Given the description of an element on the screen output the (x, y) to click on. 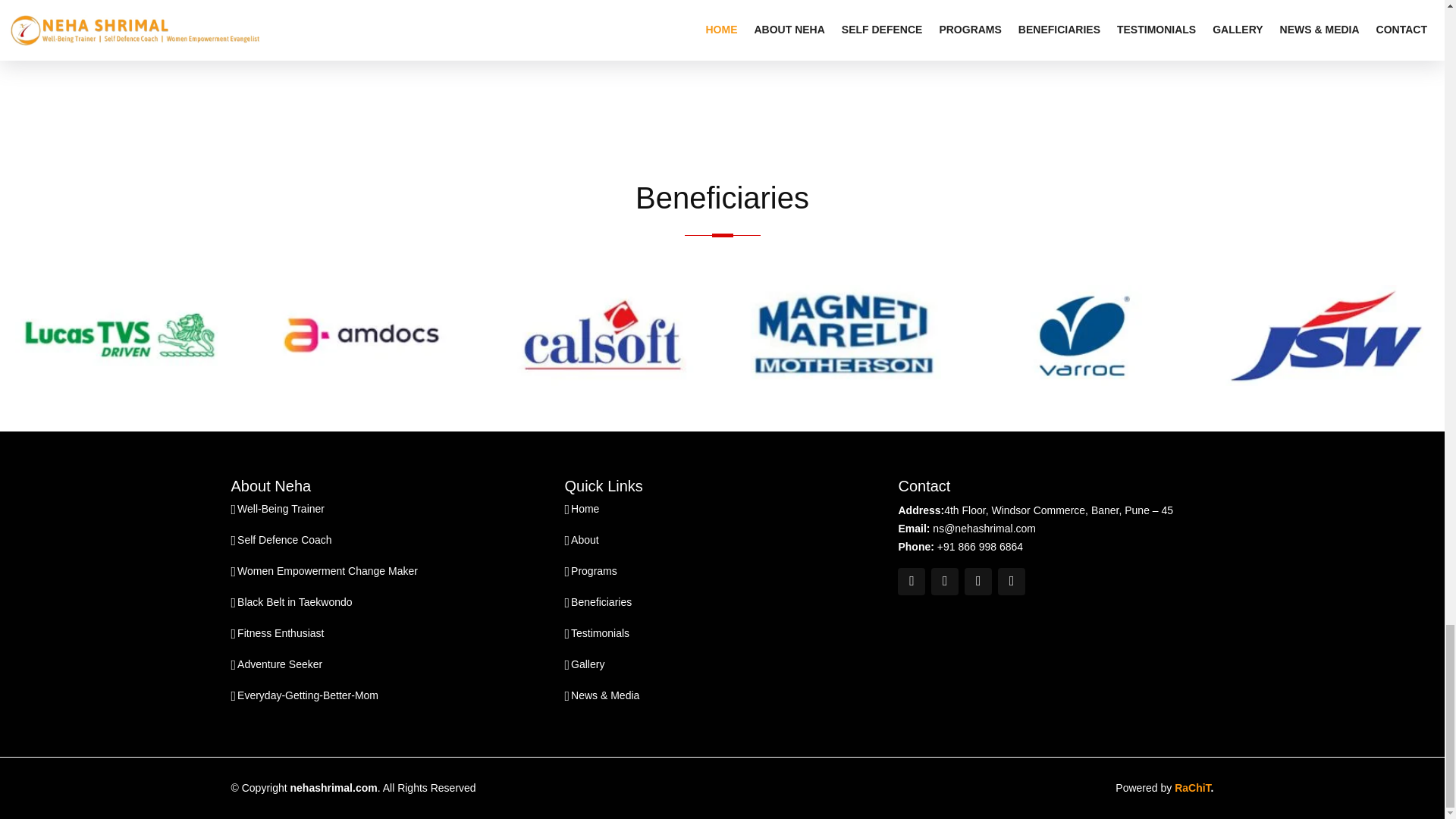
Gallery (587, 664)
Home (584, 508)
Testimonials (599, 633)
Programs (593, 571)
Beneficiaries (600, 602)
About (584, 539)
RaChiT (1191, 787)
submit (812, 158)
